Given the description of an element on the screen output the (x, y) to click on. 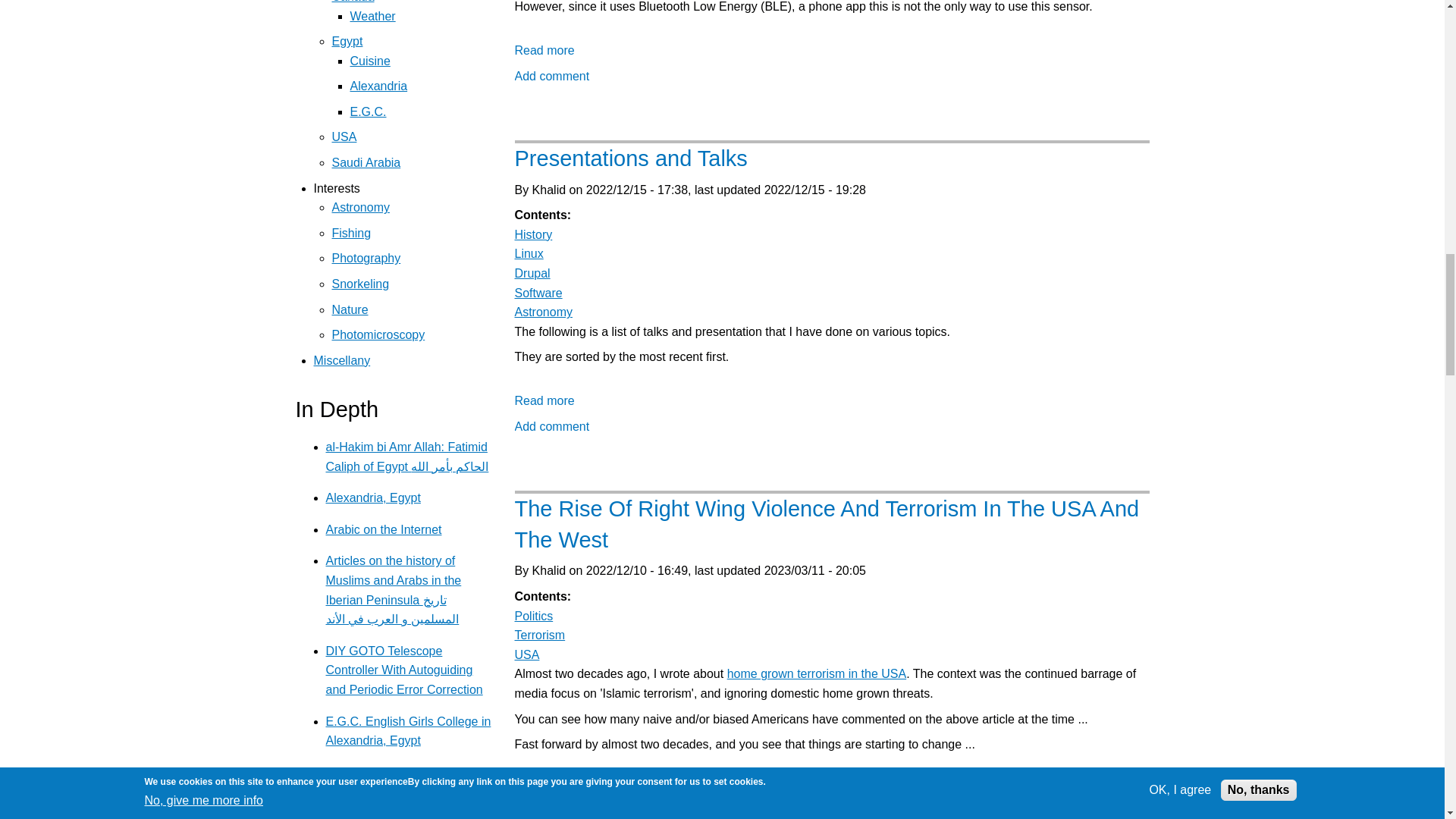
Add a new comment to this page. (551, 812)
Presentations and Talks (629, 158)
Software (537, 292)
Add comment (551, 75)
Presentations and Talks (543, 400)
Astronomy (542, 311)
Add a new comment to this page. (551, 75)
History (532, 234)
